Given the description of an element on the screen output the (x, y) to click on. 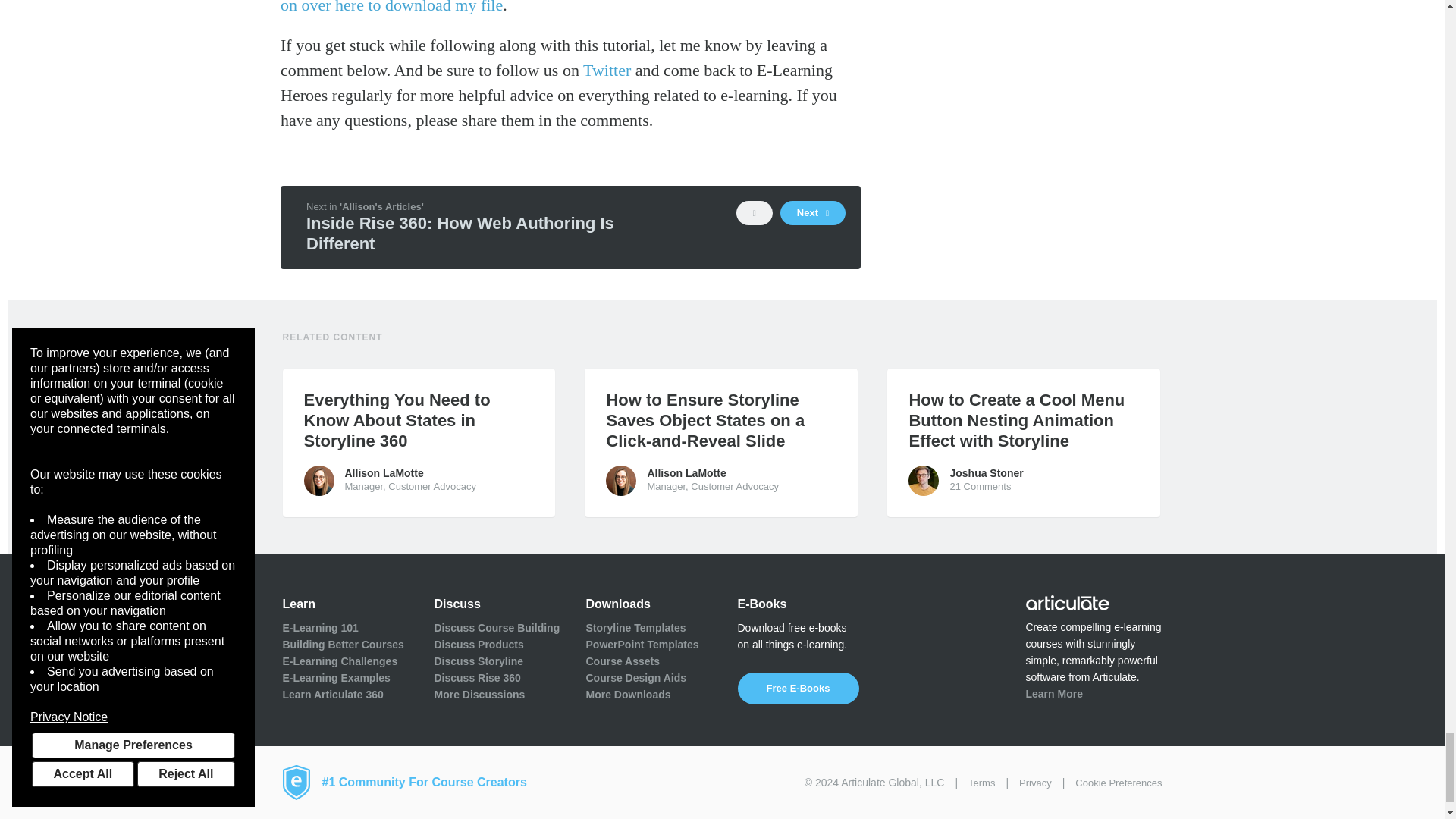
Allison LaMotte (620, 481)
Everything You Need to Know About States in Storyline 360 (418, 420)
Allison LaMotte (317, 481)
Joshua Stoner (923, 481)
